Given the description of an element on the screen output the (x, y) to click on. 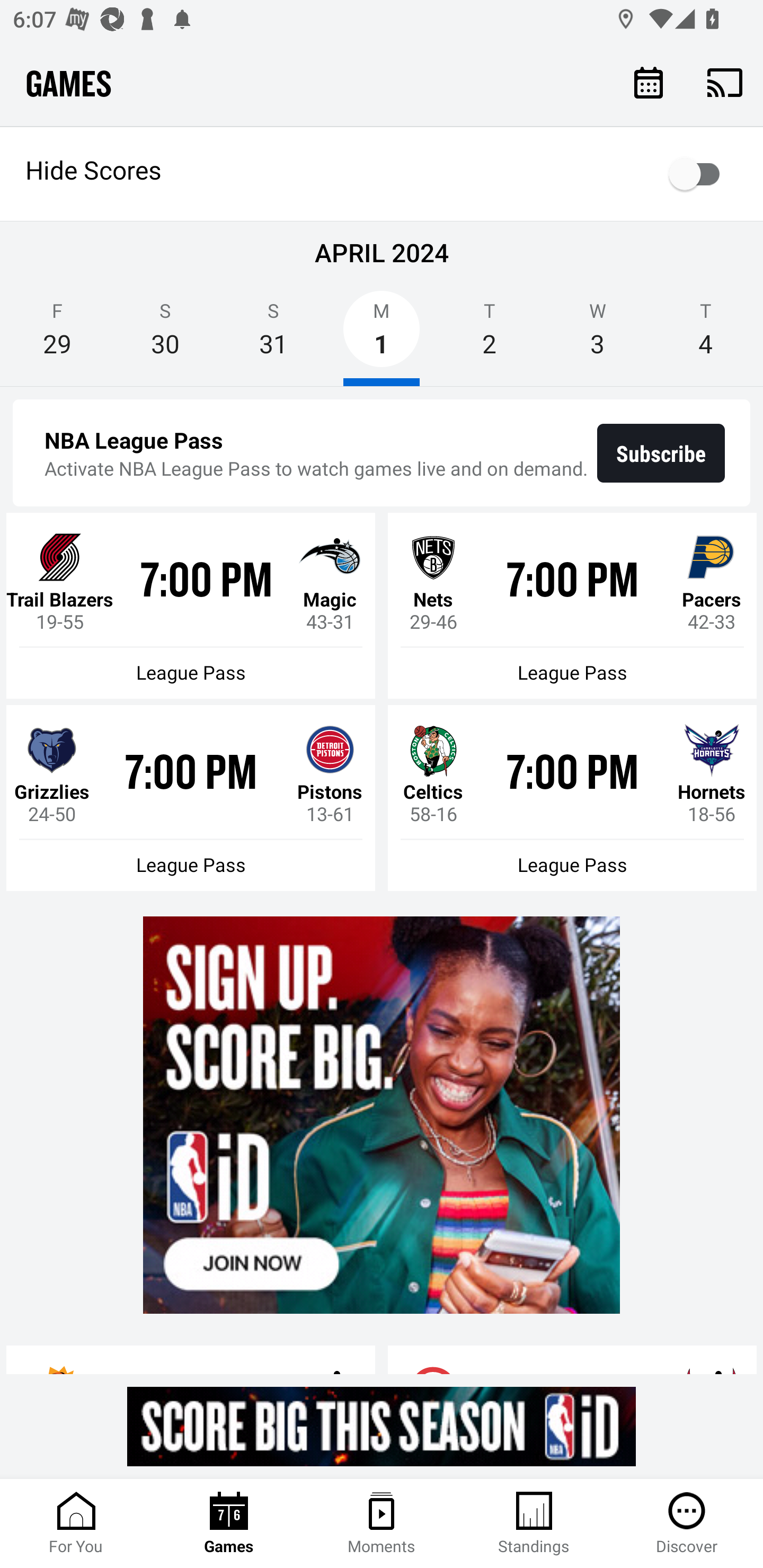
Cast. Disconnected (724, 82)
Calendar (648, 81)
Hide Scores (381, 174)
F 29 (57, 334)
S 30 (165, 334)
S 31 (273, 334)
M 1 (381, 334)
T 2 (489, 334)
W 3 (597, 334)
T 4 (705, 334)
Subscribe (660, 452)
Nets 29-46 7:00 PM Pacers 42-33 League Pass (571, 605)
Grizzlies 24-50 7:00 PM Pistons 13-61 League Pass (190, 797)
Celtics 58-16 7:00 PM Hornets 18-56 League Pass (571, 797)
g5nqqygr7owph (381, 1114)
g5nqqygr7owph (381, 1426)
For You (76, 1523)
Moments (381, 1523)
Standings (533, 1523)
Discover (686, 1523)
